Given the description of an element on the screen output the (x, y) to click on. 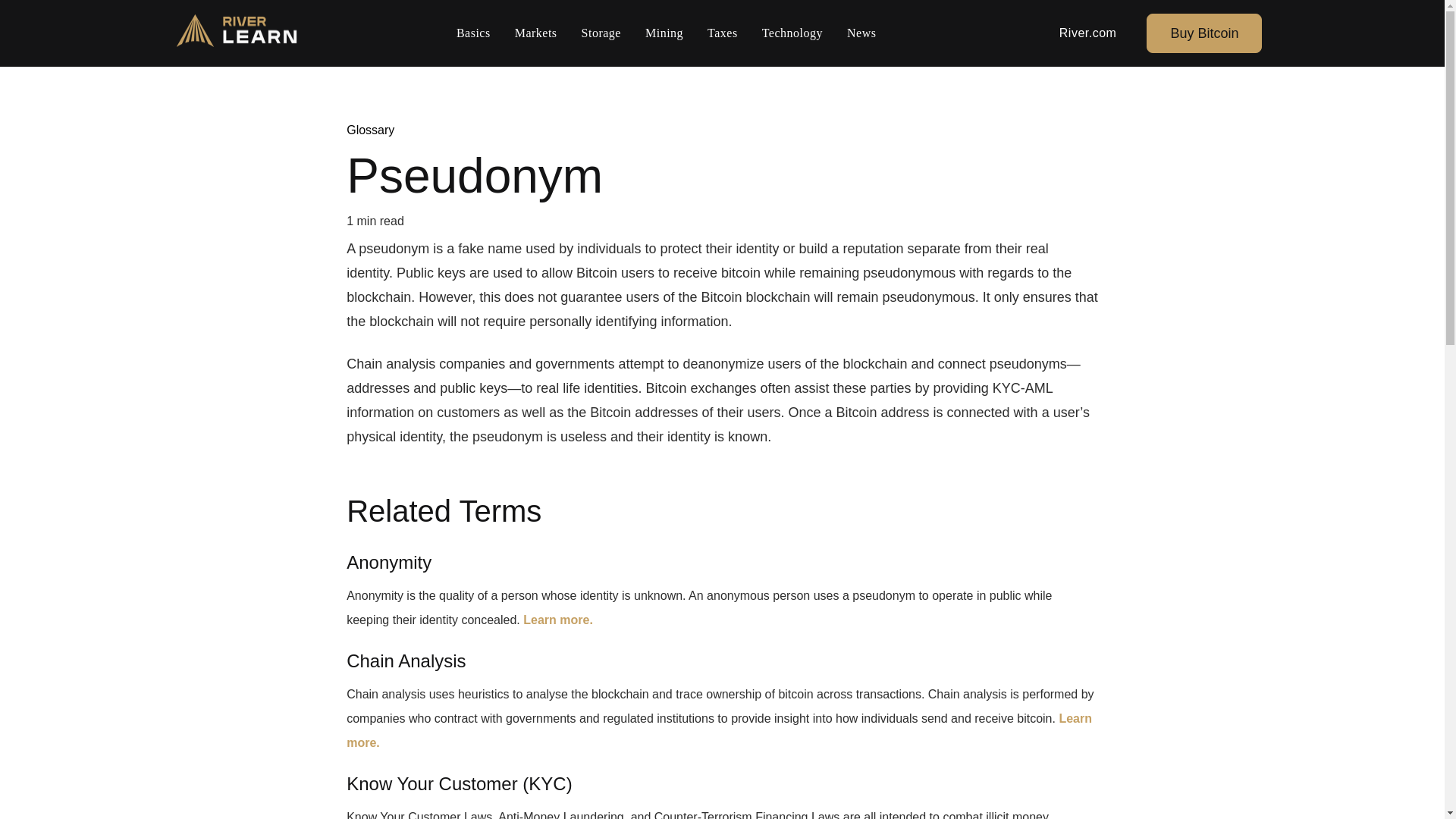
Taxes (722, 33)
Glossary (370, 129)
Chain Analysis (405, 660)
Technology (791, 33)
Basics (473, 33)
Markets (535, 33)
Storage (601, 33)
Mining (664, 33)
Learn more. (557, 619)
Learn more. (719, 730)
Buy Bitcoin (1204, 33)
News (861, 33)
Anonymity (388, 562)
